Given the description of an element on the screen output the (x, y) to click on. 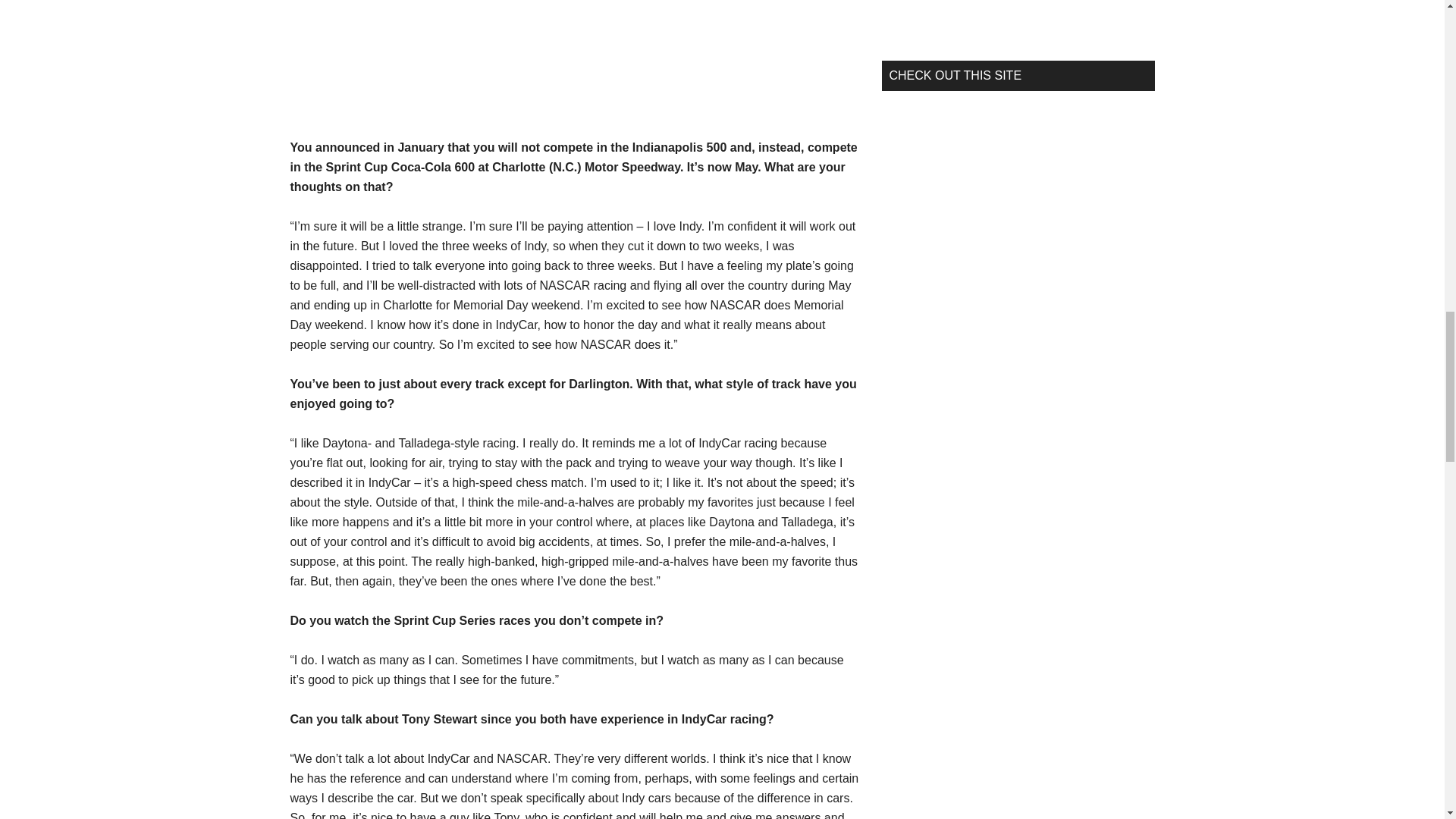
danica-high-school (402, 51)
